Given the description of an element on the screen output the (x, y) to click on. 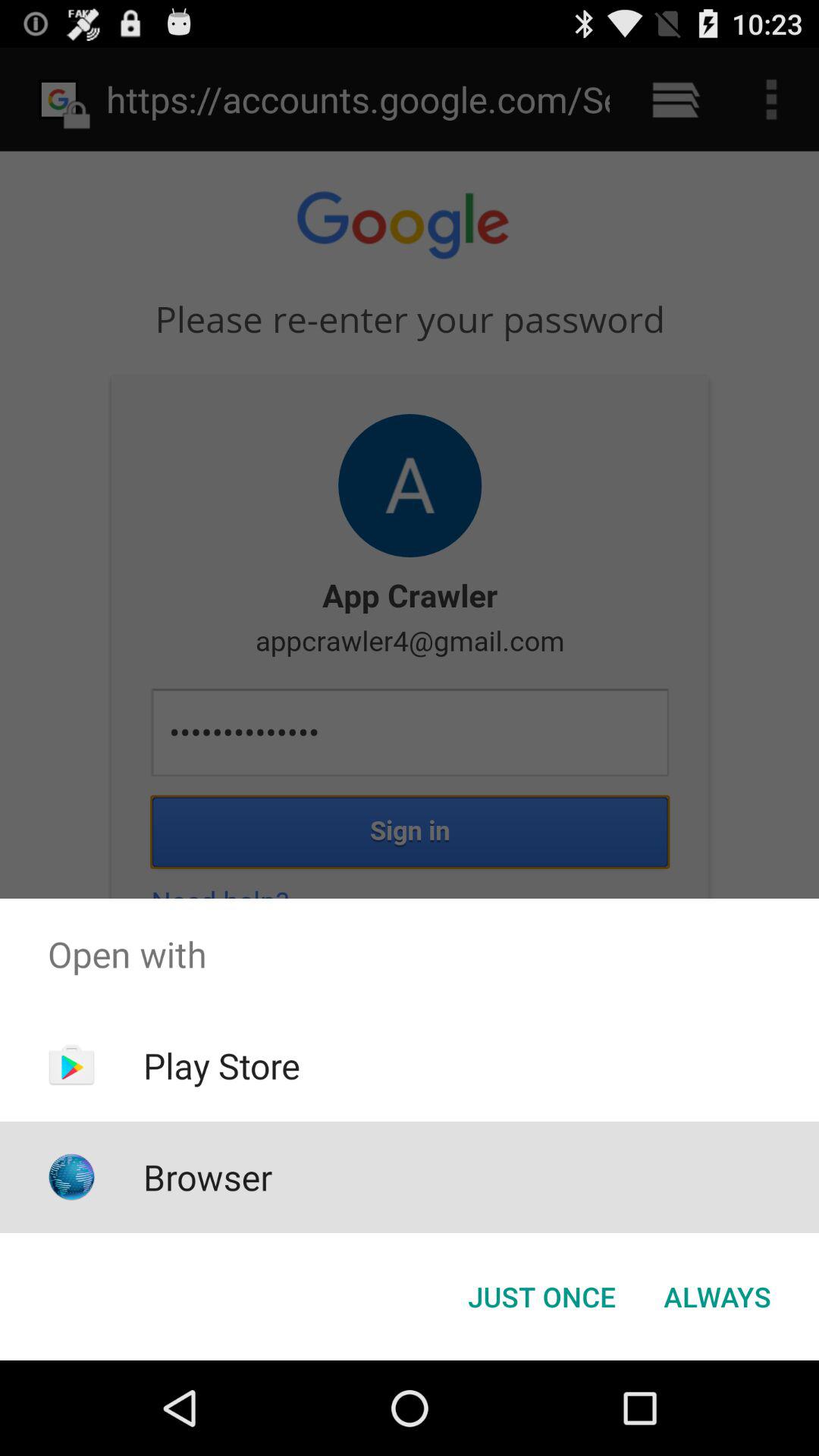
open the just once (541, 1296)
